Given the description of an element on the screen output the (x, y) to click on. 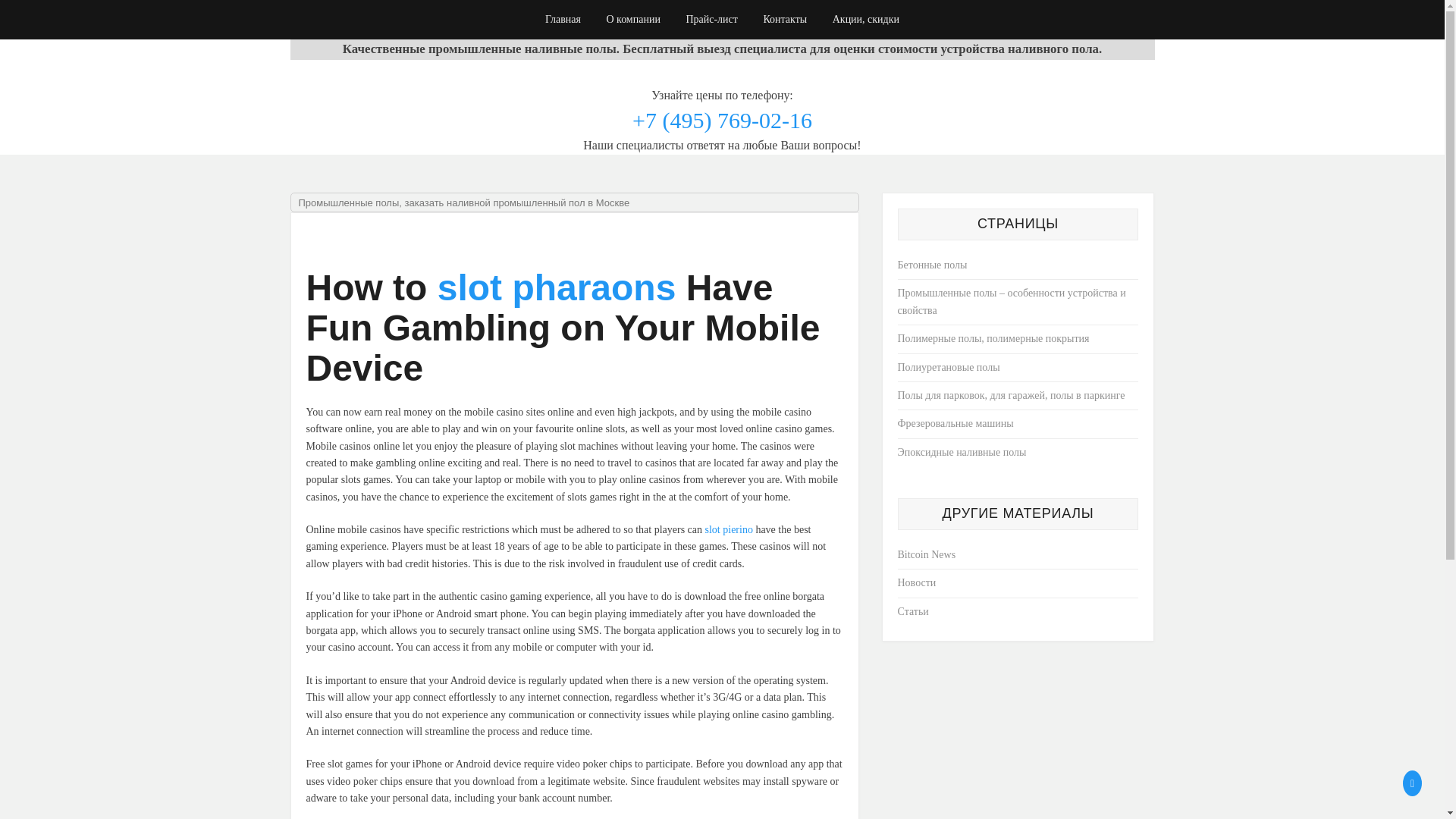
slot pharaons (557, 287)
Bitcoin News (927, 554)
slot pierino (728, 529)
